Given the description of an element on the screen output the (x, y) to click on. 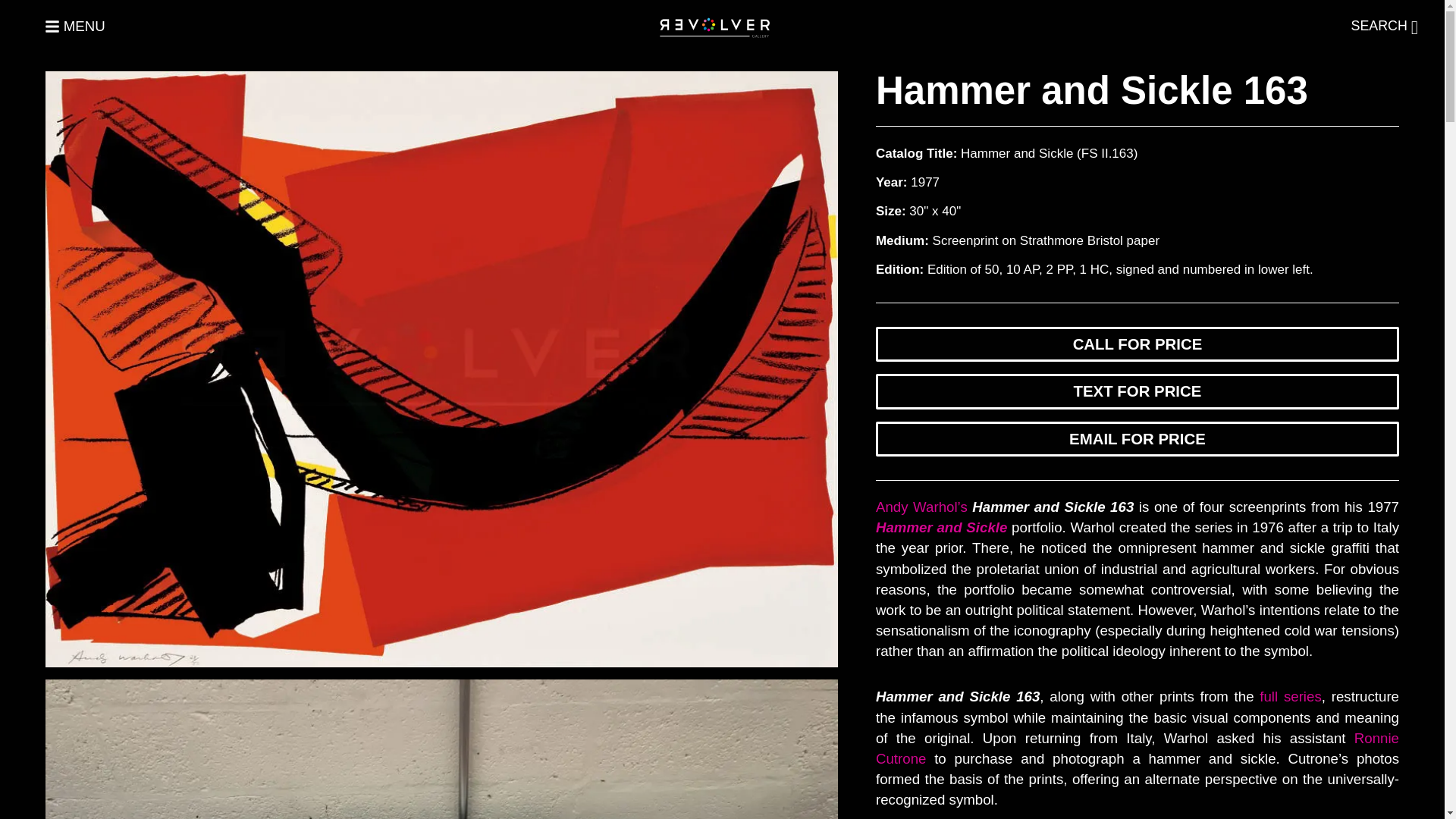
CALL FOR PRICE (1137, 343)
MENU (171, 26)
TEXT FOR PRICE (1137, 390)
EMAIL FOR PRICE (1137, 438)
LiveChat chat widget (1338, 757)
